Given the description of an element on the screen output the (x, y) to click on. 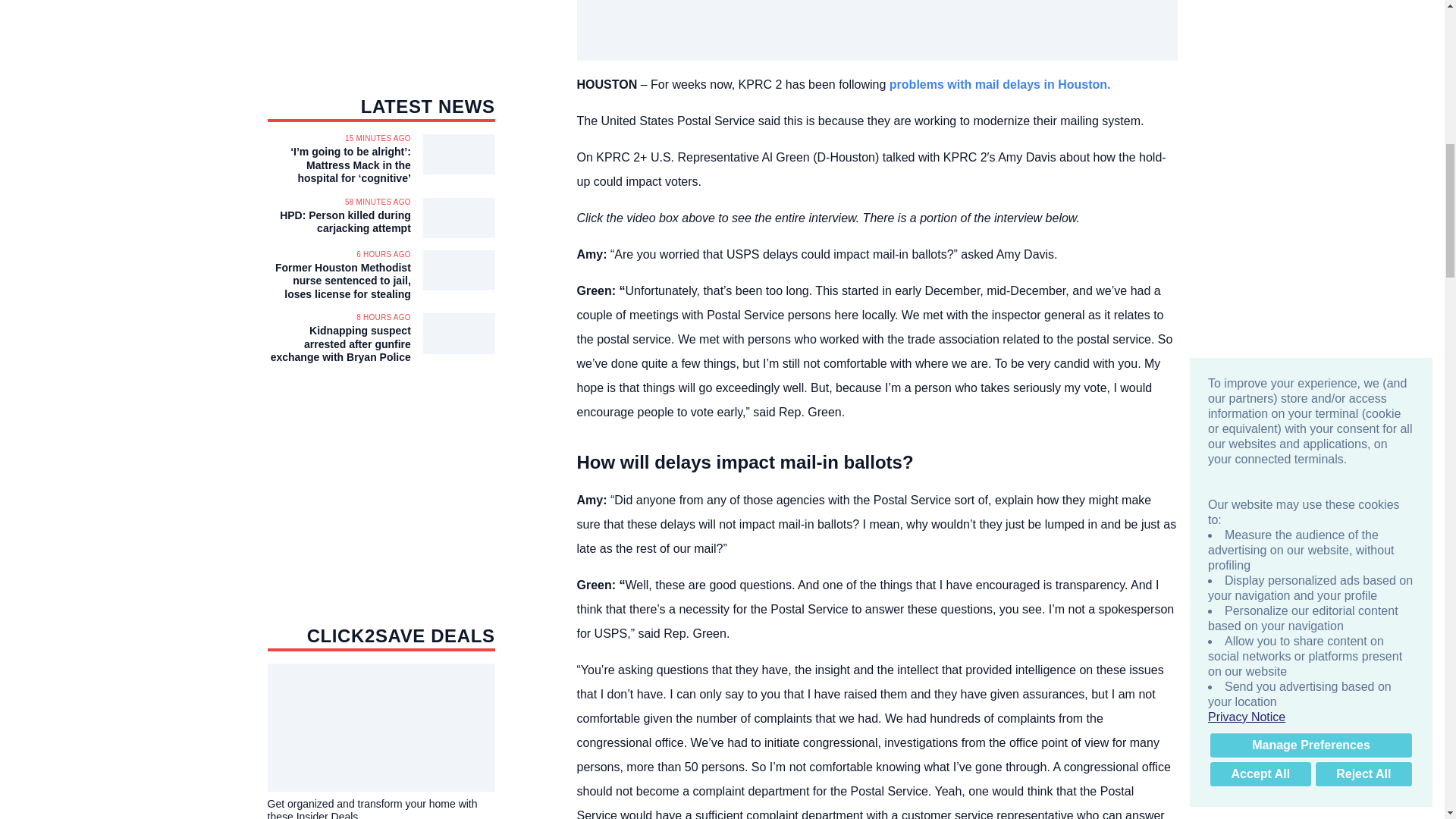
HPD: Person killed during carjacking attempt (338, 222)
